Given the description of an element on the screen output the (x, y) to click on. 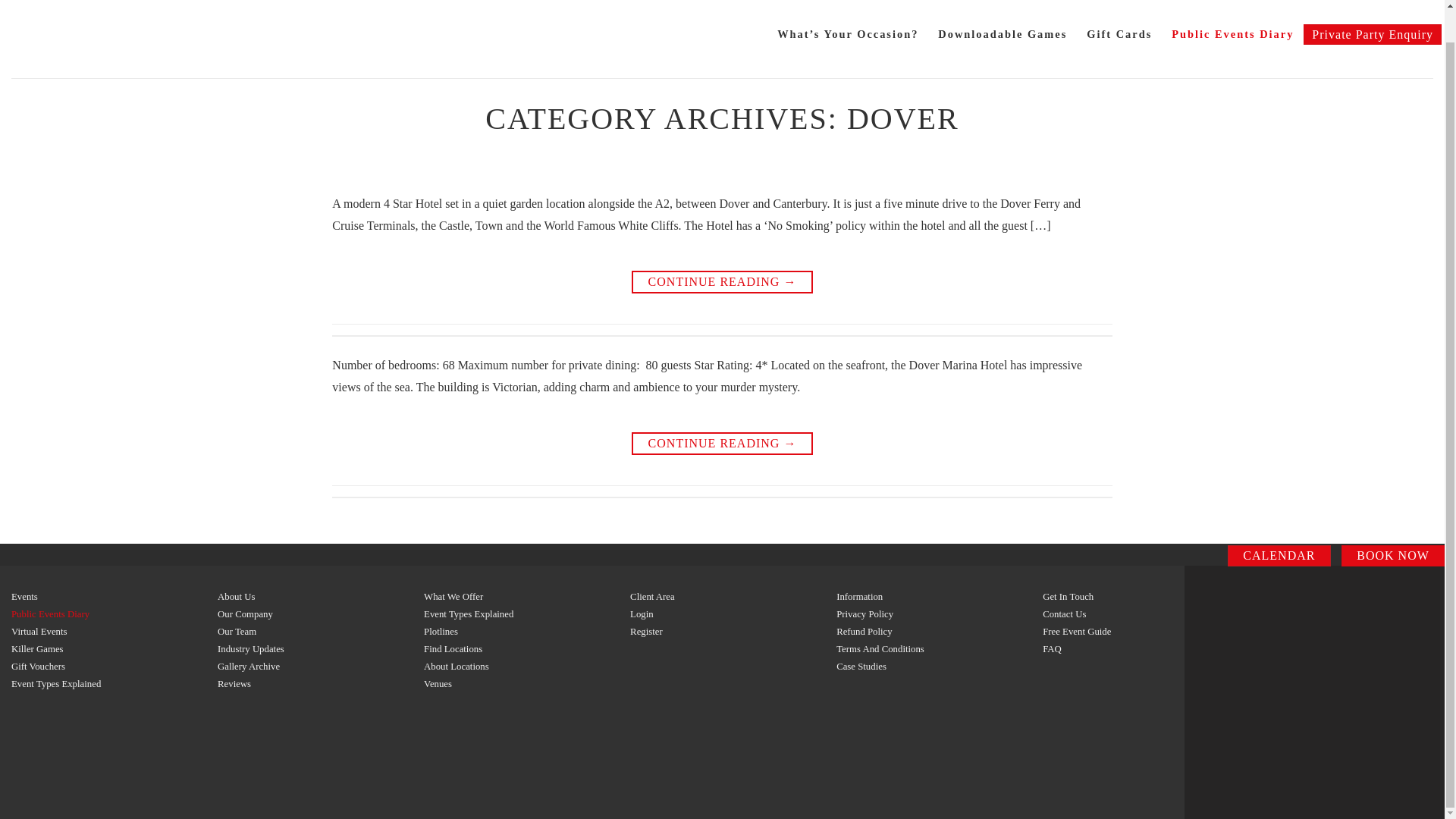
Our Team (236, 631)
Virtual Events (38, 631)
Gift Cards (1118, 34)
Event Types Explained (468, 614)
Public Events Diary (49, 614)
Private Party Enquiry (1372, 34)
Industry Updates (249, 648)
Murder Mystery Events - Dying to please! (111, 37)
Public Events Diary (1233, 34)
Our Company (244, 614)
